Given the description of an element on the screen output the (x, y) to click on. 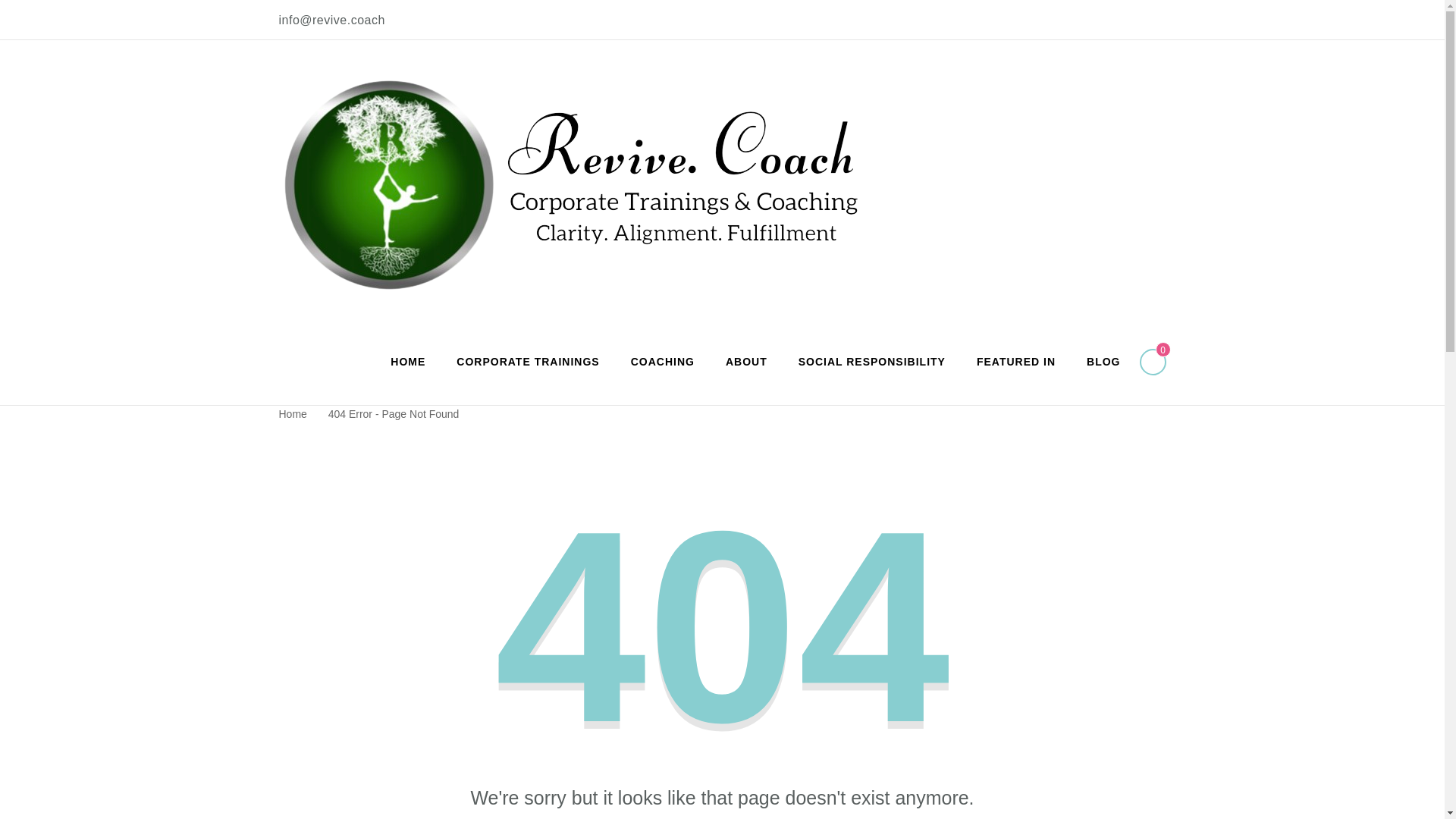
COACHING (662, 362)
CORPORATE TRAININGS (527, 362)
Home (293, 413)
Revive: Intuitive Life Coaching for Living Abundantly (676, 316)
SOCIAL RESPONSIBILITY (871, 362)
FEATURED IN (1015, 362)
